Given the description of an element on the screen output the (x, y) to click on. 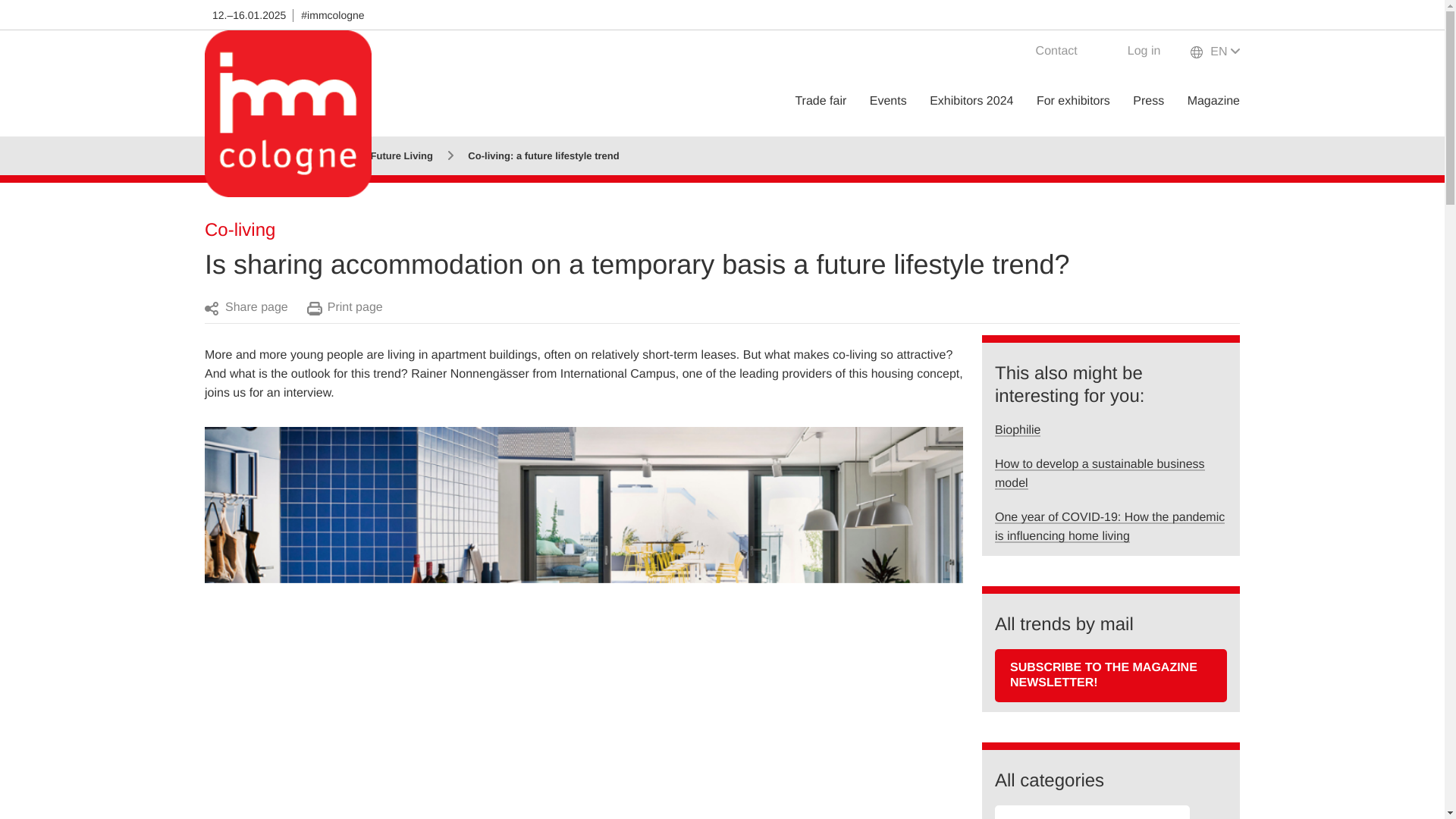
Trade fair (819, 101)
Log in (1134, 52)
For exhibitors (1072, 101)
Magazine (1214, 101)
Language (1215, 51)
Trade fair (819, 101)
Magazine (1214, 101)
Koelnmesse Logo (288, 115)
Press (1147, 101)
Exhibitors 2024 (971, 101)
Press (1147, 101)
Events (888, 101)
Events (888, 101)
Exhibitors 2024 (971, 101)
Koelnmesse Logo (288, 113)
